Given the description of an element on the screen output the (x, y) to click on. 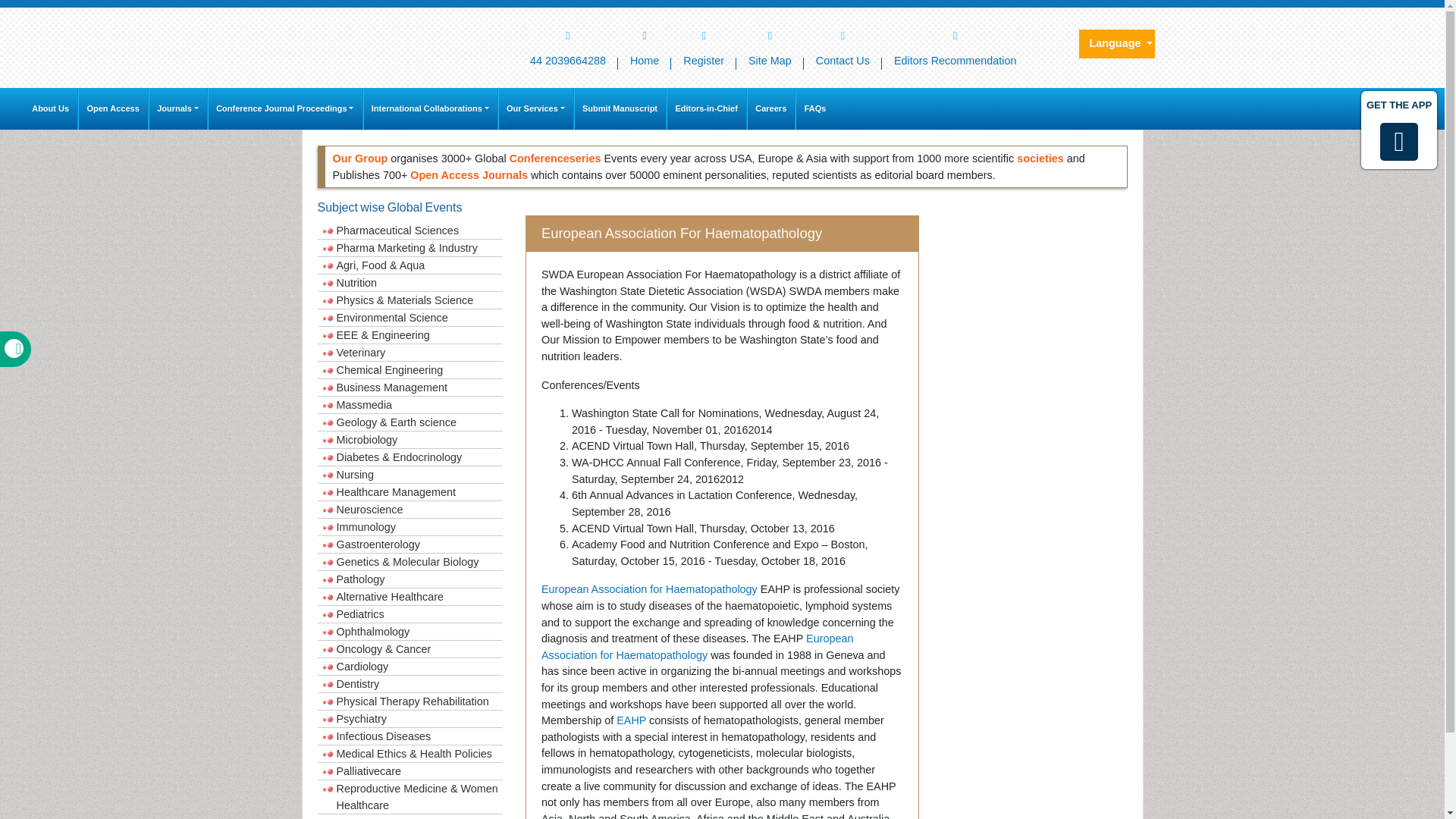
Home (644, 35)
Register (703, 44)
International Collaborations (429, 108)
Language (1116, 43)
Home (567, 44)
Join Us (702, 35)
Editors Recommendation (955, 44)
Open Access (113, 108)
Home (644, 44)
Contact Us (842, 44)
Site Map (770, 35)
Contact Us (842, 44)
About Us (50, 108)
Editors Recommendation (955, 44)
Register (703, 44)
